Given the description of an element on the screen output the (x, y) to click on. 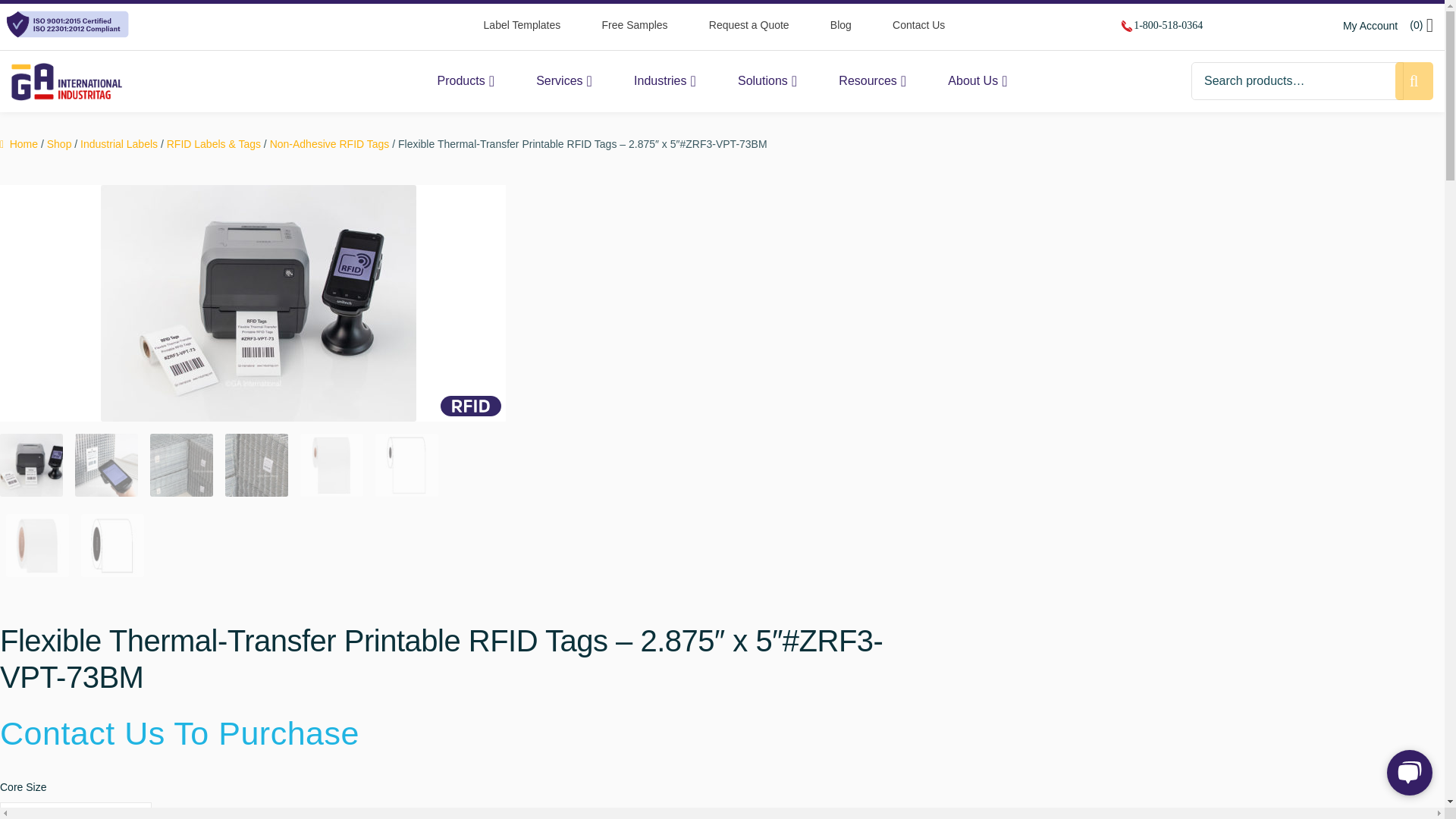
Free Samples (633, 24)
Blog (840, 24)
ZRF3-VPT-73BM-use1 (258, 303)
1-800-518-0364 (1168, 25)
Label Templates (521, 24)
Contact Us (918, 24)
Request a Quote (749, 24)
My Account (1369, 32)
Products (464, 80)
View your shopping cart (1420, 25)
